Given the description of an element on the screen output the (x, y) to click on. 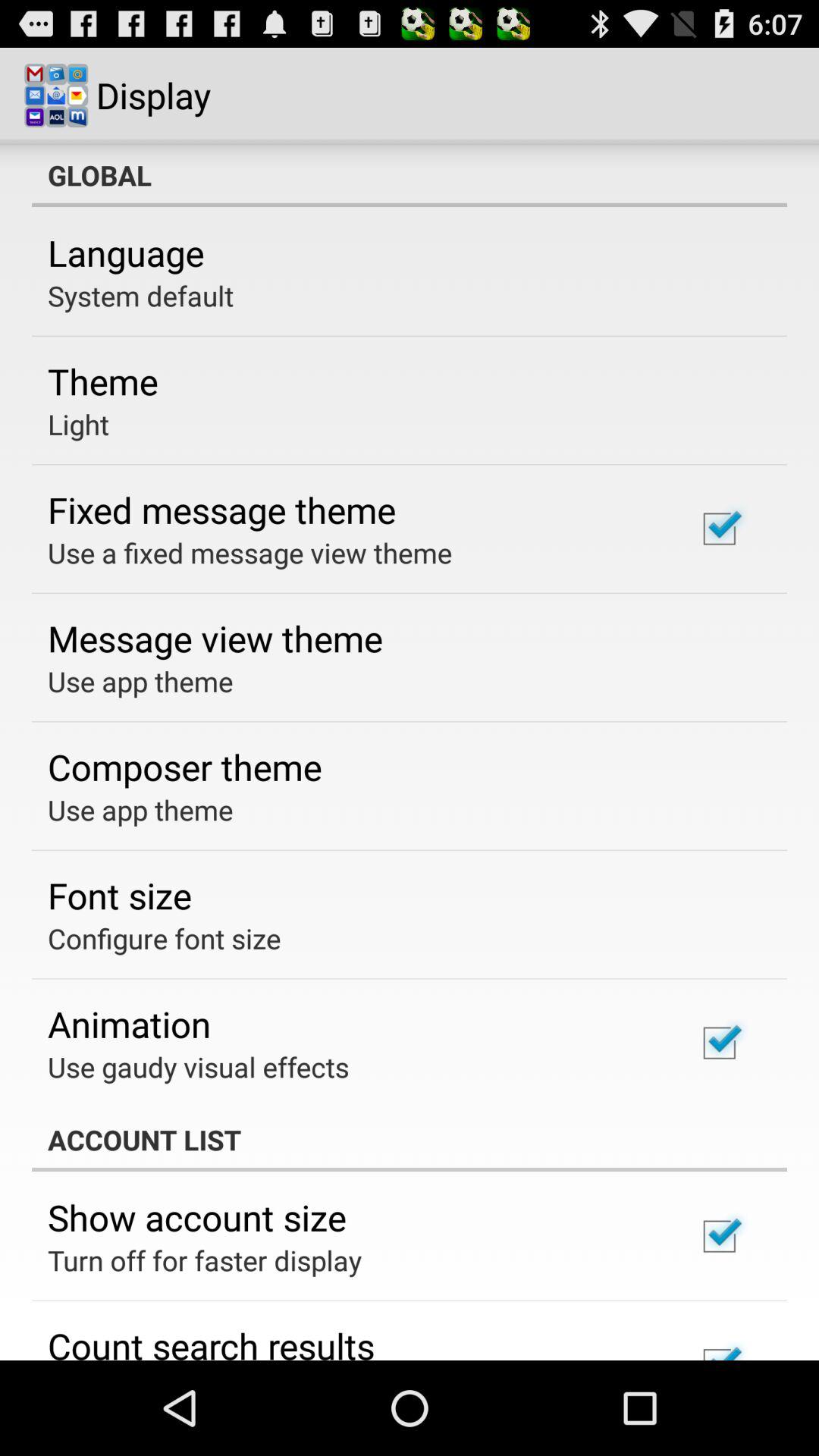
flip to composer theme icon (184, 766)
